Given the description of an element on the screen output the (x, y) to click on. 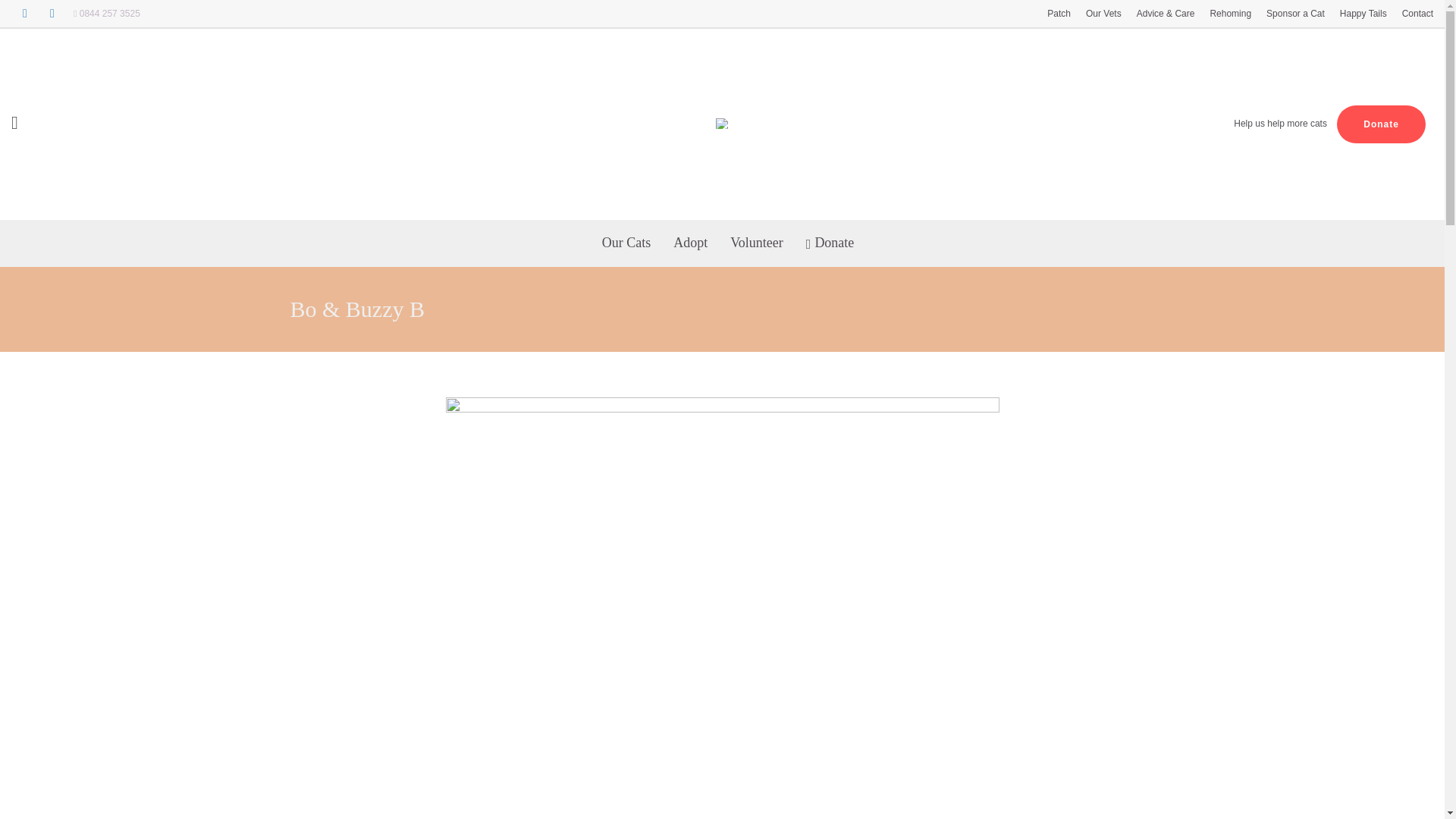
Adopt (690, 242)
Donate (1380, 124)
Contact (1417, 13)
Sponsor a Cat (1295, 13)
Our Cats (626, 242)
Patch (1058, 13)
Our Vets (1103, 13)
Happy Tails (1363, 13)
Rehoming (1230, 13)
Volunteer (756, 242)
